Given the description of an element on the screen output the (x, y) to click on. 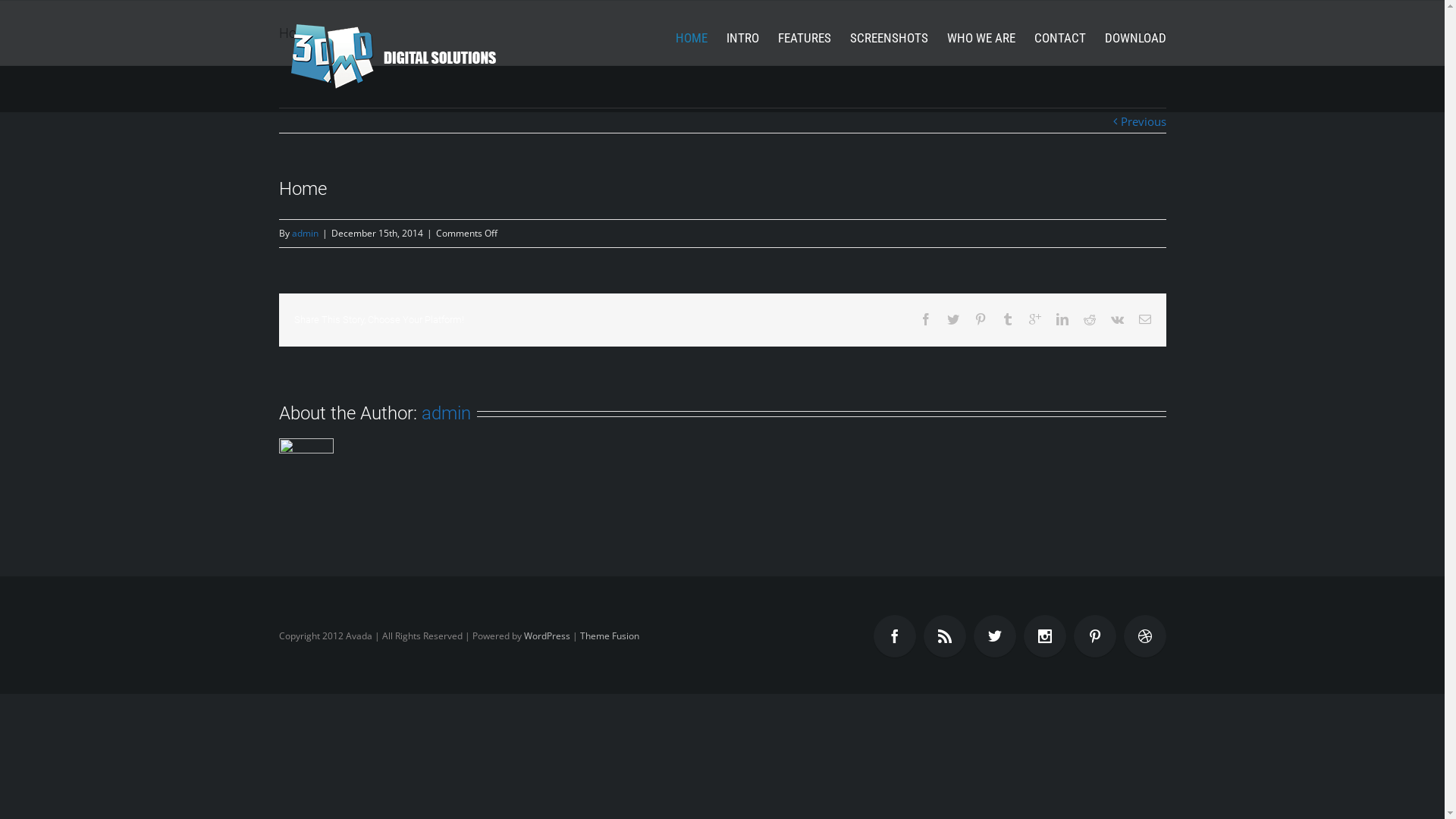
INTRO Element type: text (742, 37)
admin Element type: text (445, 412)
SCREENSHOTS Element type: text (888, 37)
Previous Element type: text (1143, 121)
CONTACT Element type: text (1059, 37)
WordPress Element type: text (546, 635)
Home Element type: text (1123, 32)
HOME Element type: text (690, 37)
WHO WE ARE Element type: text (980, 37)
FEATURES Element type: text (804, 37)
Theme Fusion Element type: text (608, 635)
DOWNLOAD Element type: text (1134, 37)
admin Element type: text (304, 232)
